Given the description of an element on the screen output the (x, y) to click on. 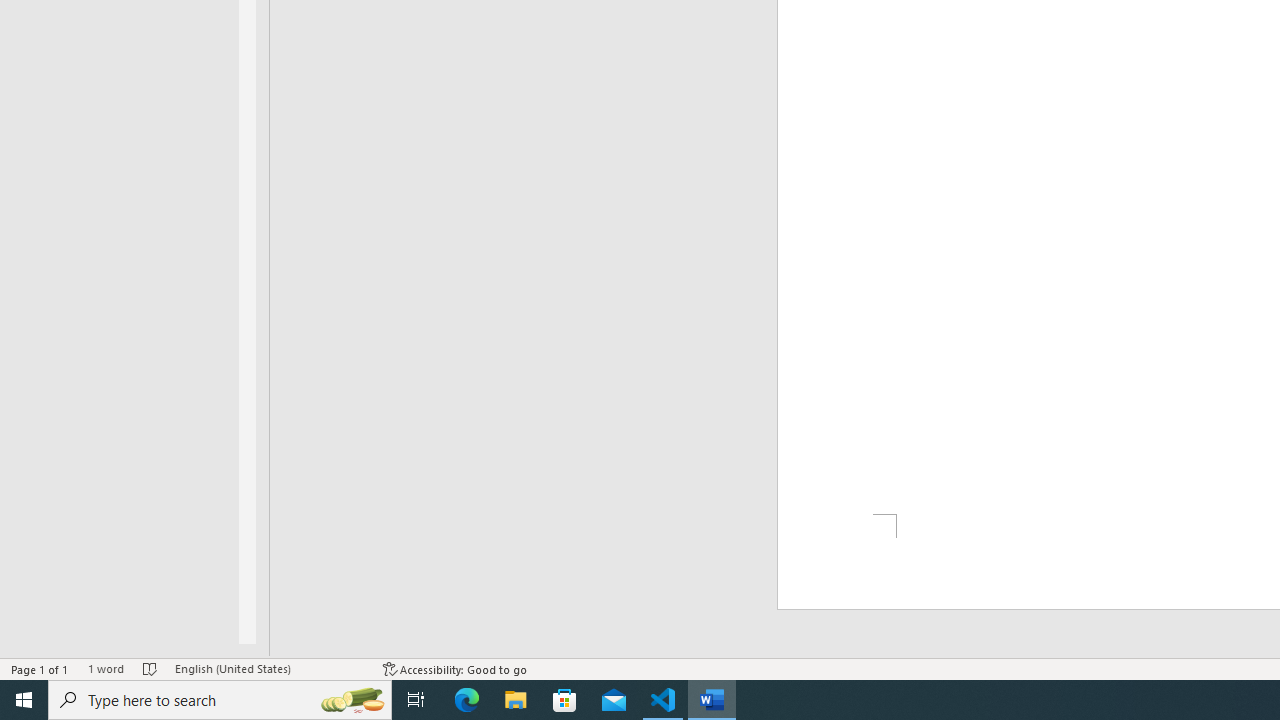
Accessibility Checker Accessibility: Good to go (455, 668)
Page Number Page 1 of 1 (39, 668)
Spelling and Grammar Check No Errors (150, 668)
Language English (United States) (269, 668)
